Given the description of an element on the screen output the (x, y) to click on. 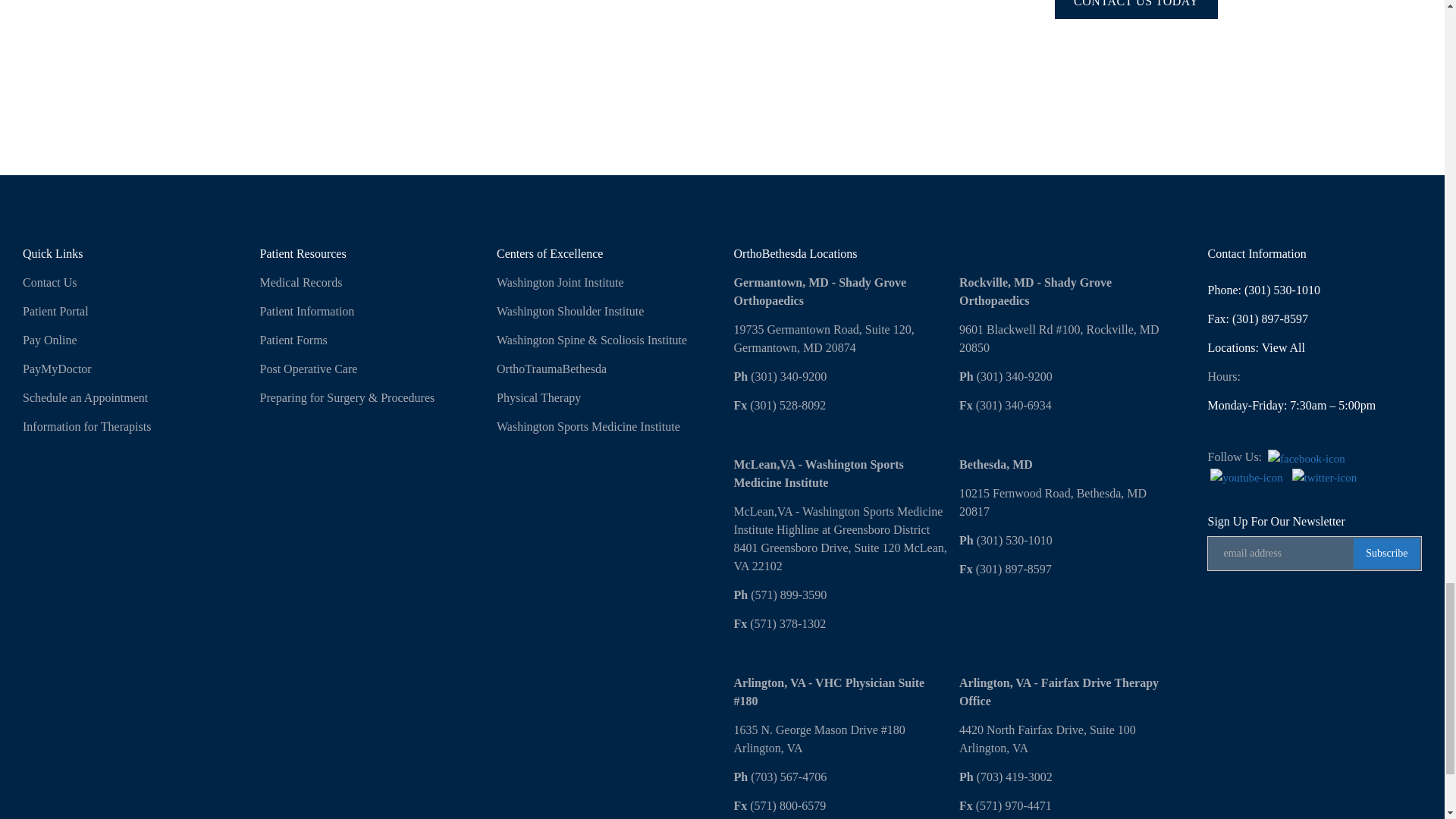
Subscribe (1386, 553)
